Given the description of an element on the screen output the (x, y) to click on. 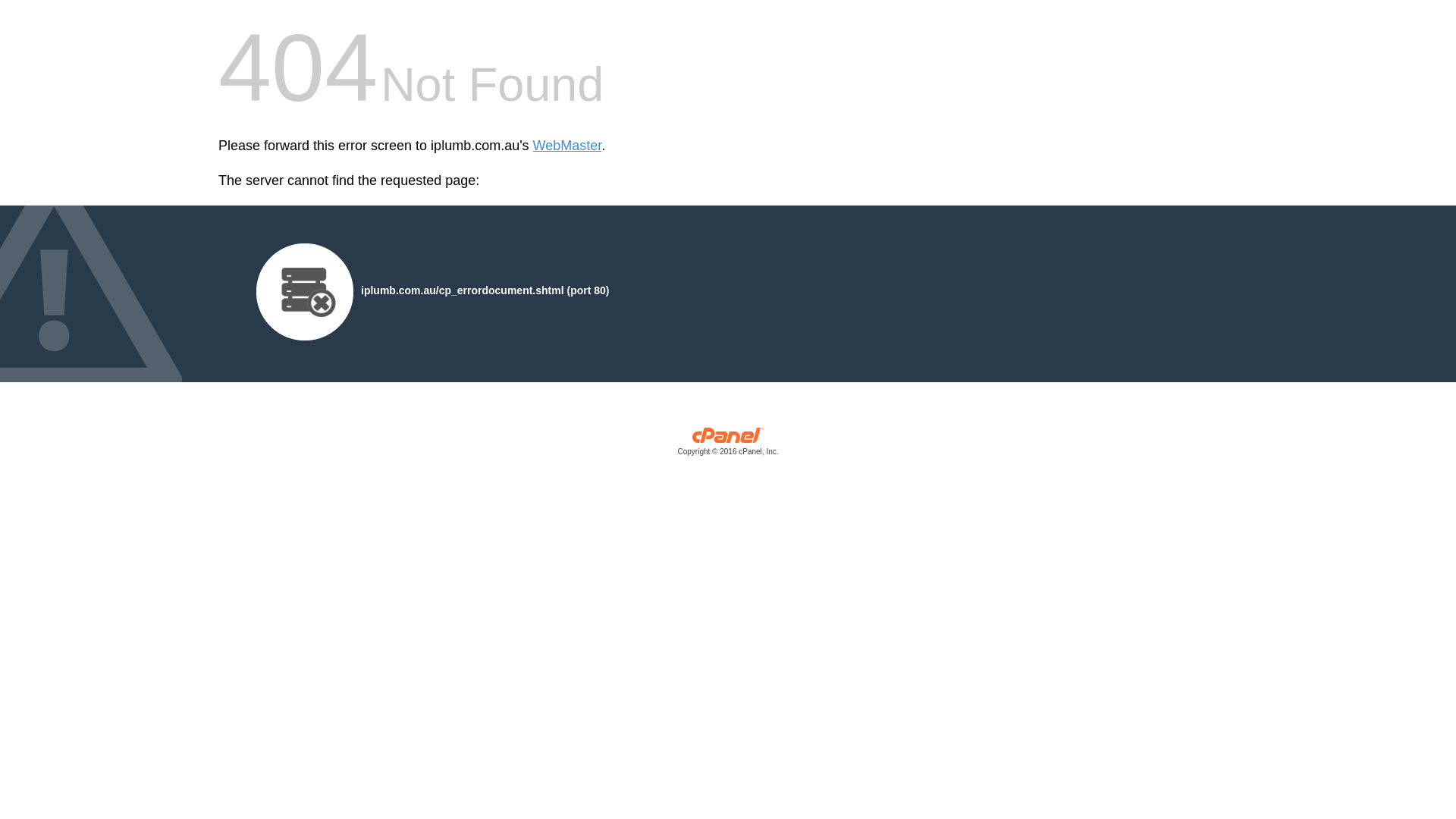
WebMaster Element type: text (567, 145)
